Given the description of an element on the screen output the (x, y) to click on. 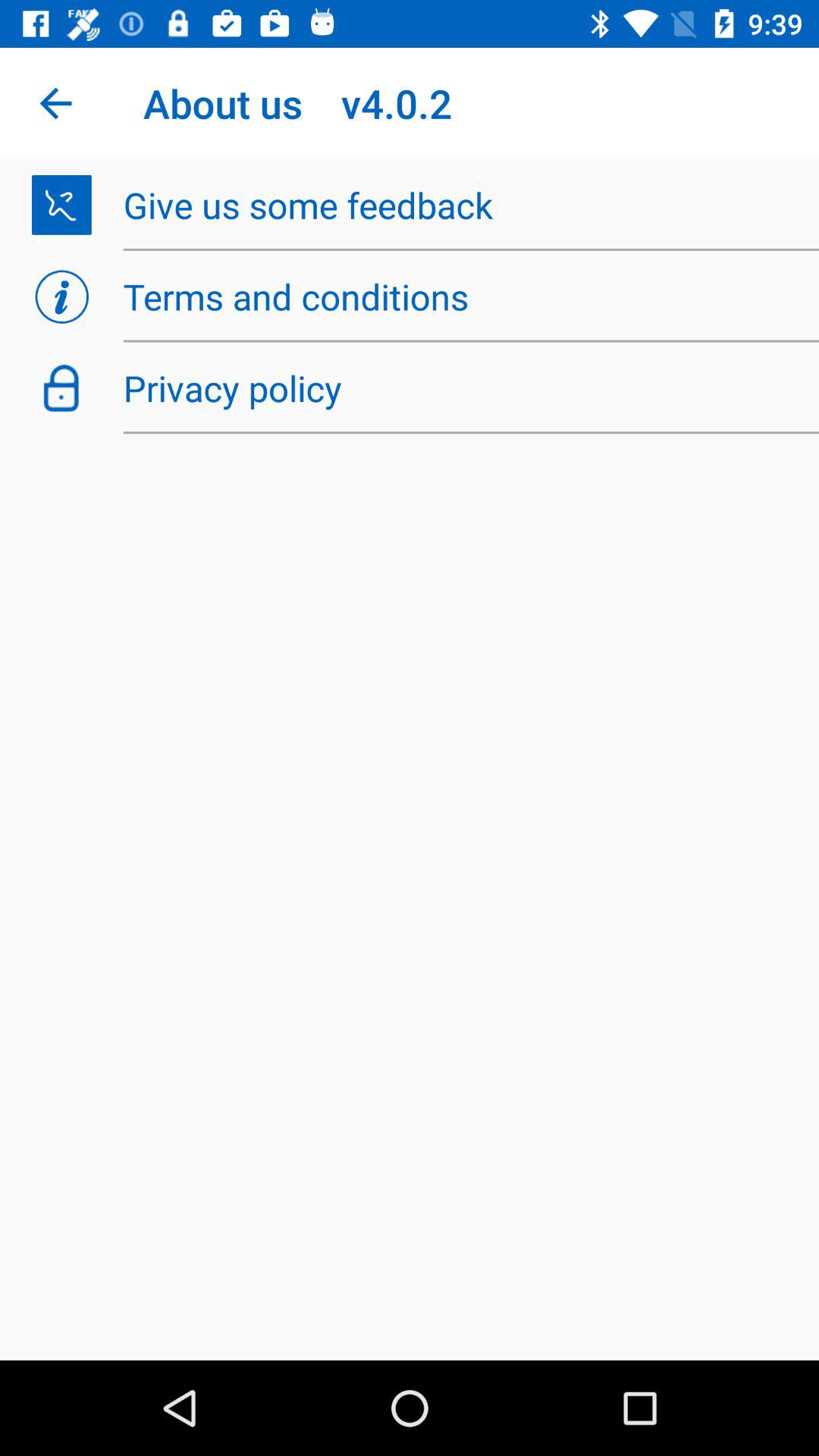
open the privacy policy item (463, 388)
